Given the description of an element on the screen output the (x, y) to click on. 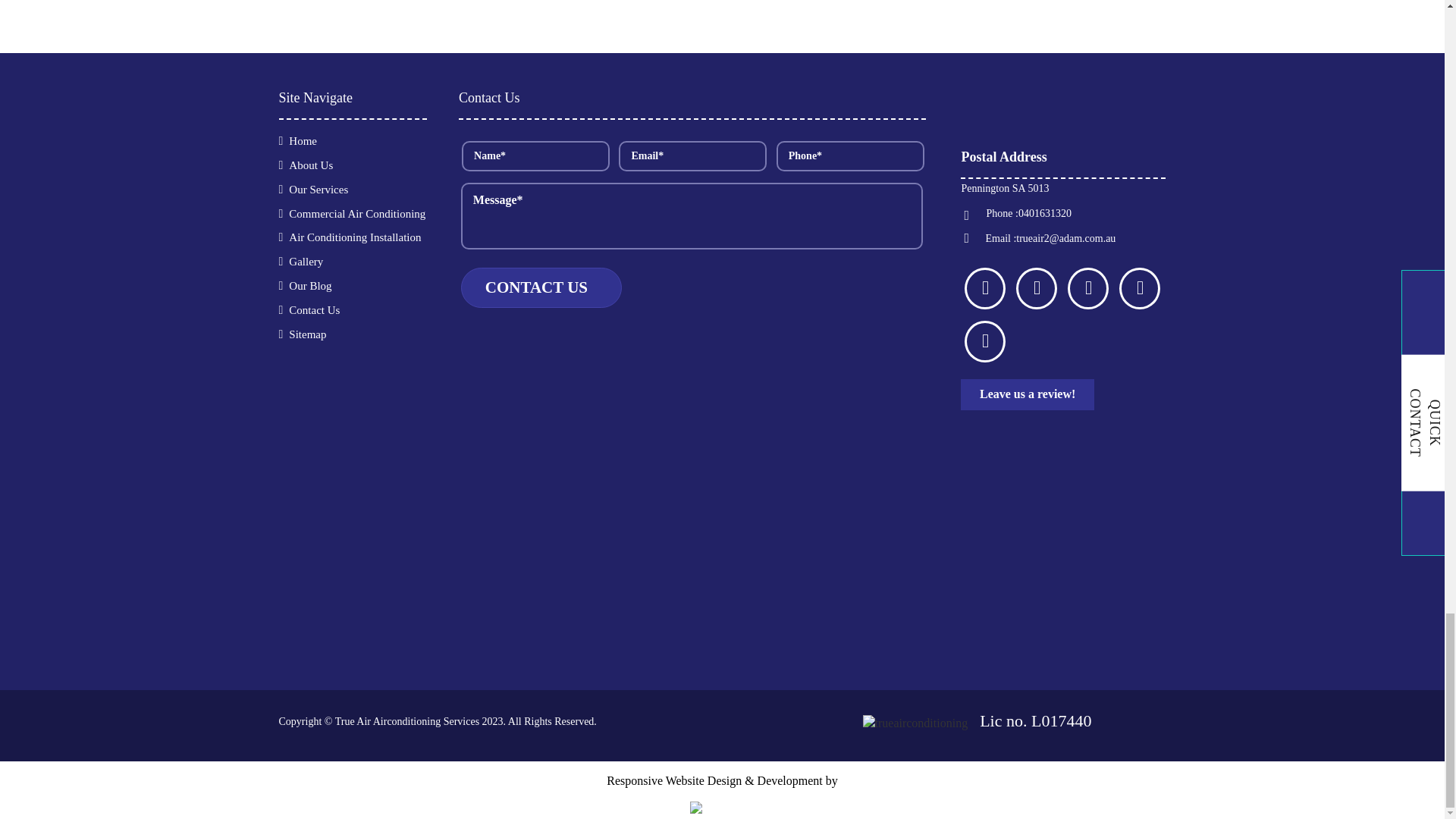
About Us (307, 164)
Sitemap (304, 334)
Our Blog (306, 285)
Commercial Air Conditioning (353, 214)
Gallery (302, 261)
Contact us (541, 287)
Contact Us (310, 309)
Home (299, 141)
Contact us (541, 287)
0401631320 (1044, 213)
Air Conditioning Installation (351, 236)
Our Services (314, 189)
